Given the description of an element on the screen output the (x, y) to click on. 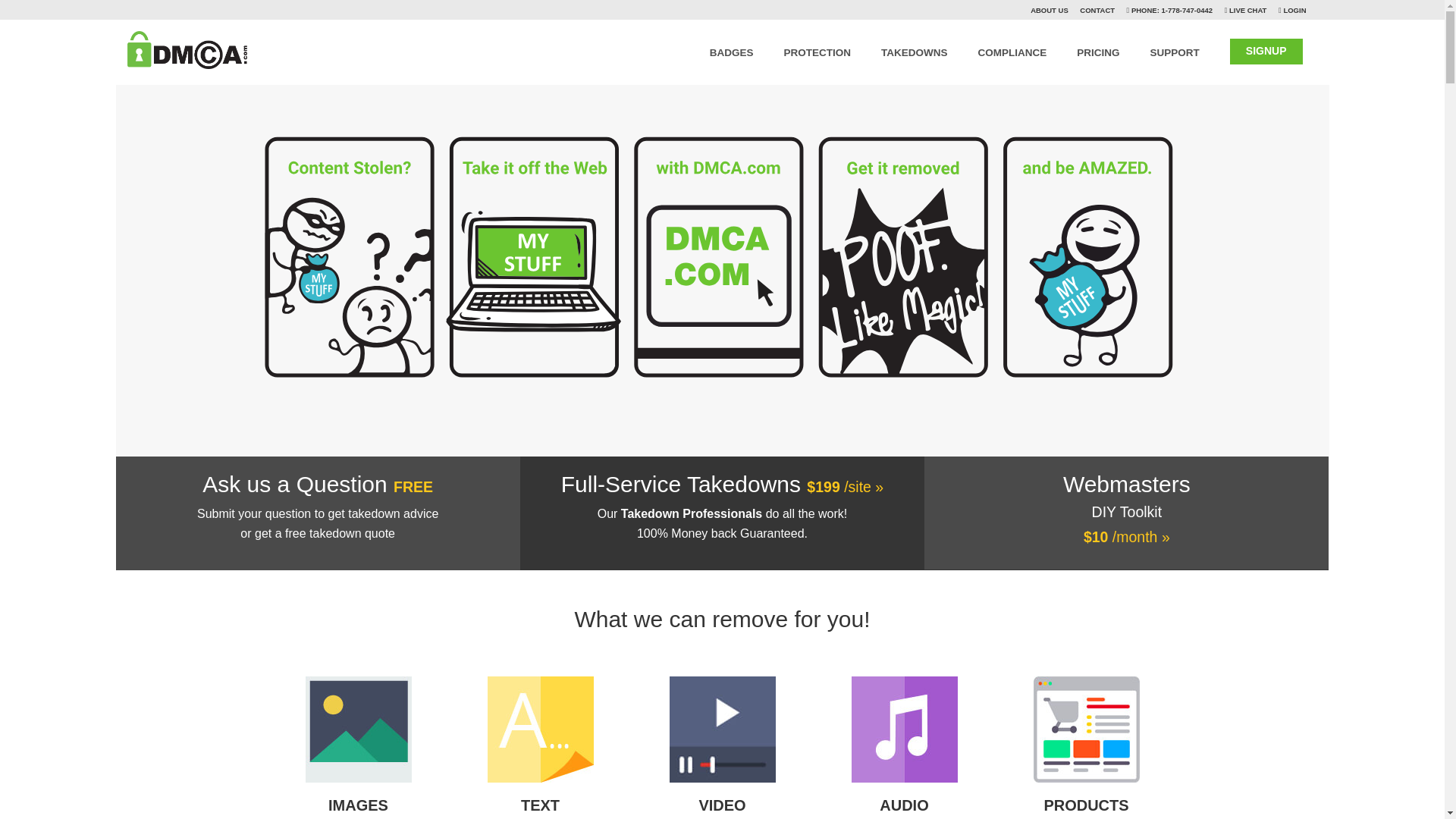
PROTECTION (817, 48)
CONTACT (1097, 9)
ABOUT US (1049, 9)
PHONE: 1-778-747-0442 (1170, 9)
LOGIN (1294, 9)
LIVE CHAT (1246, 9)
BADGES (732, 48)
